Given the description of an element on the screen output the (x, y) to click on. 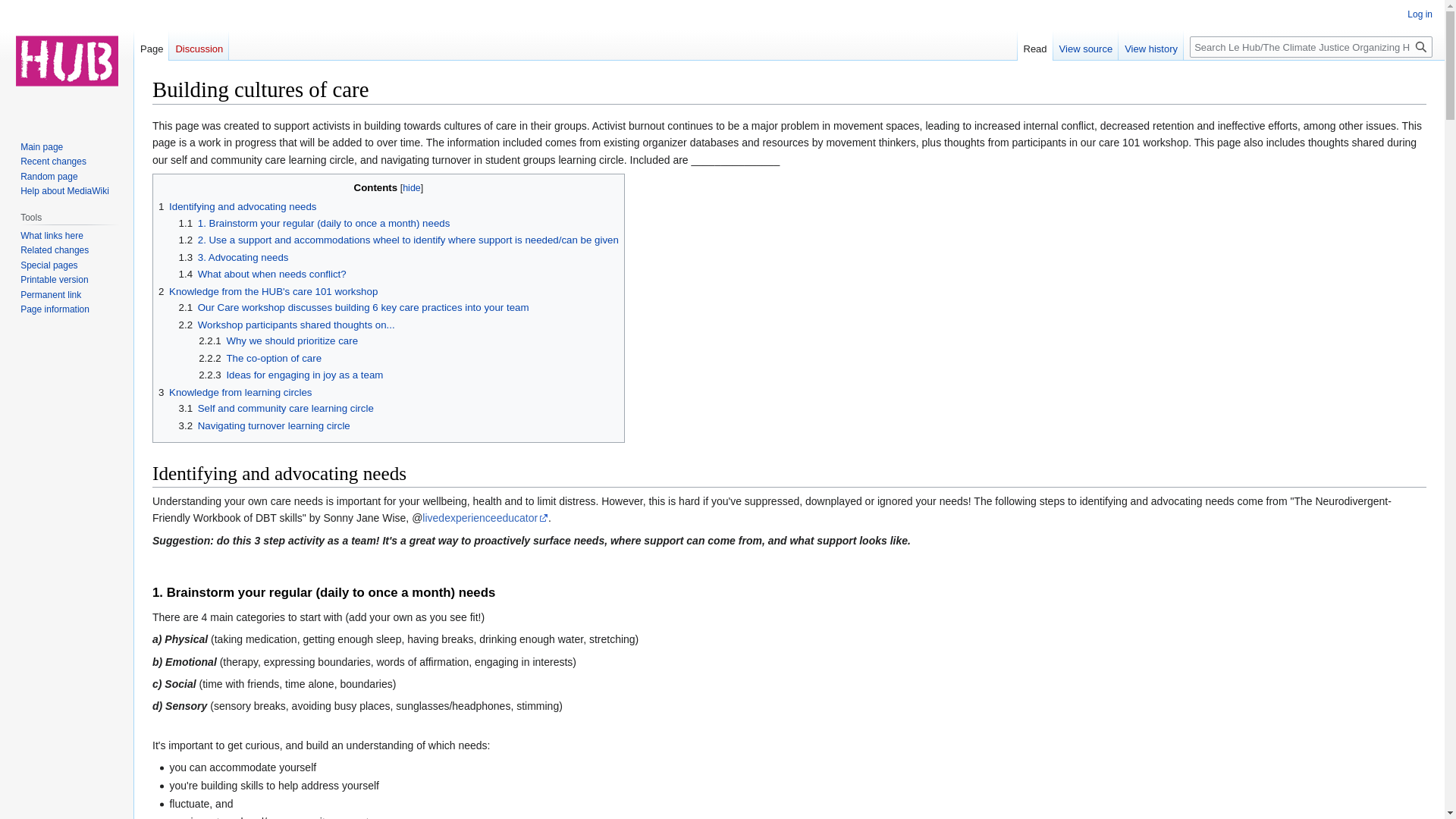
Page (150, 45)
2.2.3 Ideas for engaging in joy as a team (290, 374)
1 Identifying and advocating needs (236, 206)
2.2.2 The co-option of care (259, 357)
2 Knowledge from the HUB's care 101 workshop (267, 291)
Log in (1419, 14)
1.3 3. Advocating needs (233, 256)
2.2 Workshop participants shared thoughts on... (286, 324)
Search (1420, 46)
